Given the description of an element on the screen output the (x, y) to click on. 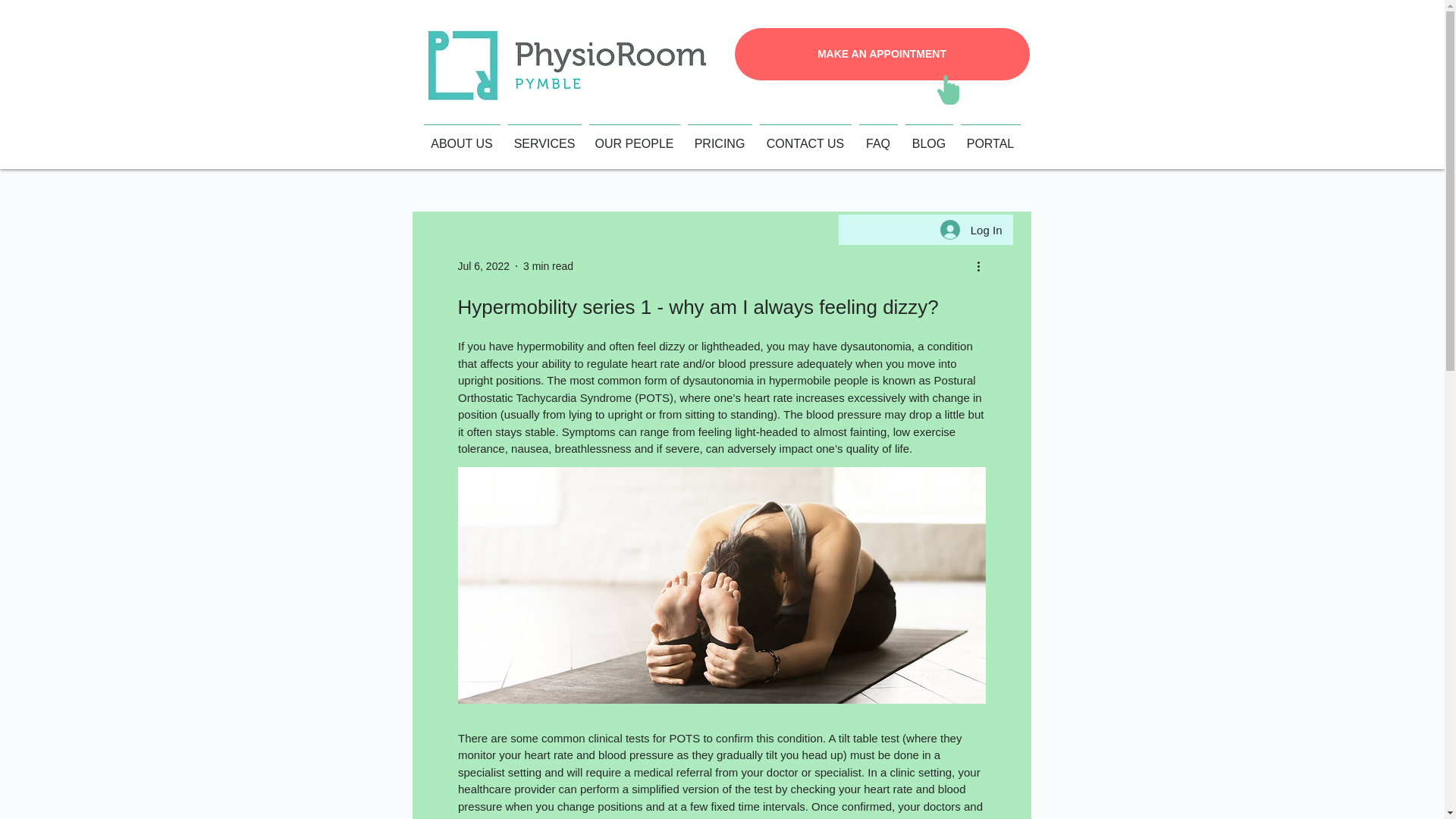
SERVICES (544, 136)
OUR PEOPLE (634, 136)
MAKE AN APPOINTMENT (881, 53)
Log In (971, 229)
FAQ (878, 136)
BLOG (928, 136)
CONTACT US (804, 136)
PRICING (719, 136)
ABOUT US (461, 136)
PORTAL (990, 136)
Jul 6, 2022 (484, 265)
3 min read (547, 265)
